Given the description of an element on the screen output the (x, y) to click on. 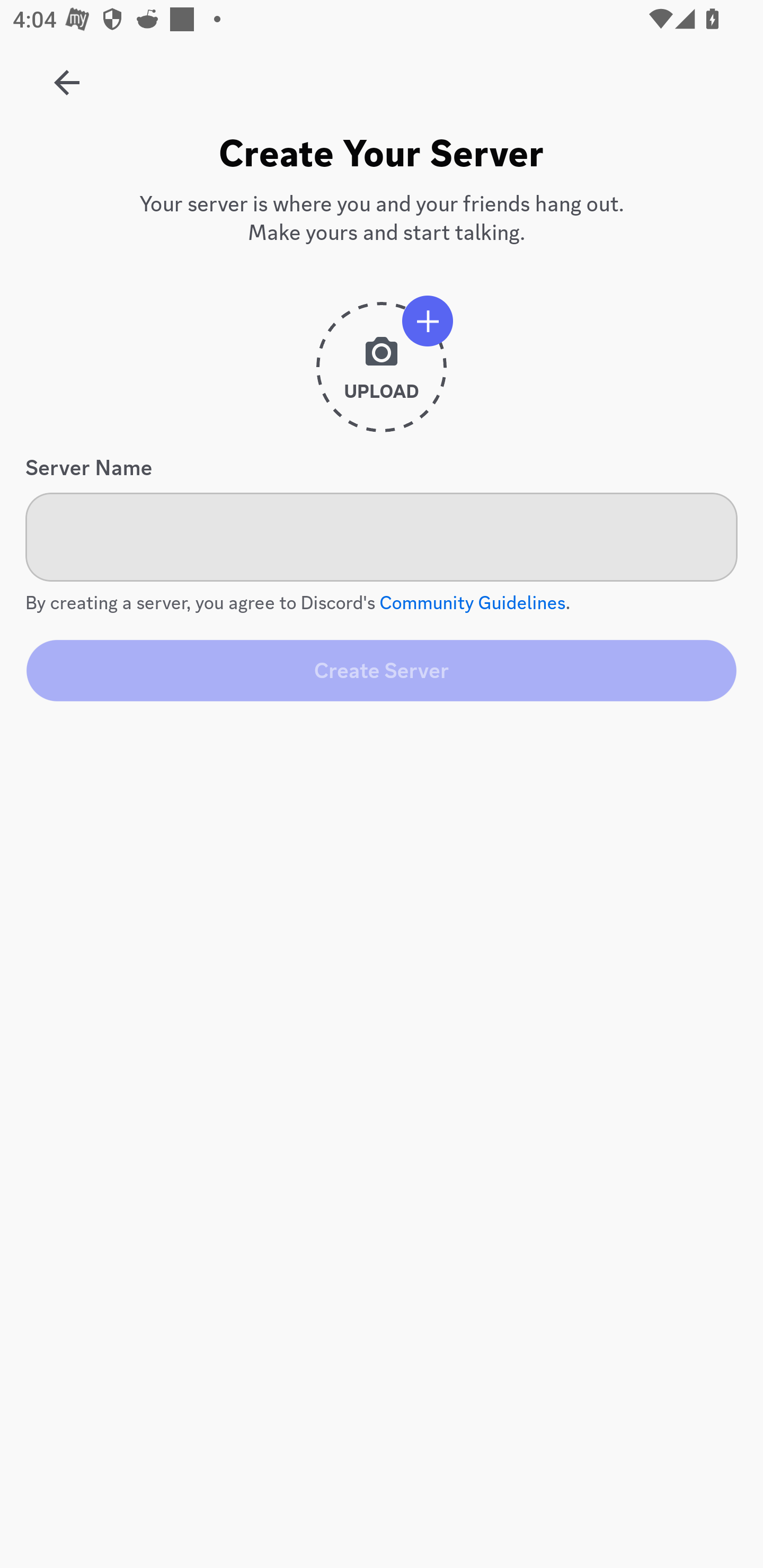
  Study Group Sunday 5PM SGS5 (66, 75)
Search (373, 165)
Upload Image UPLOAD (381, 373)
Create Server (381, 670)
